Given the description of an element on the screen output the (x, y) to click on. 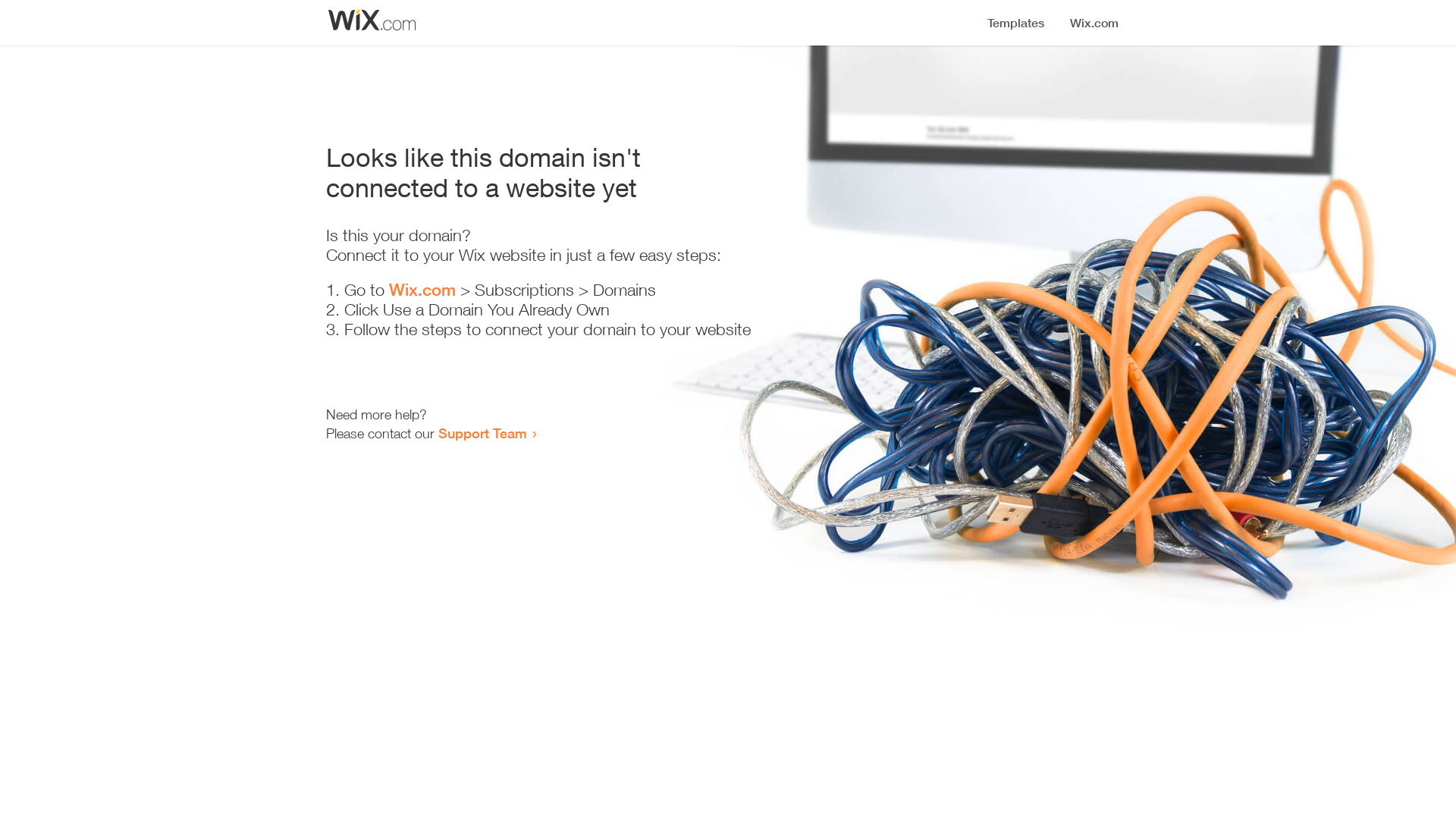
Support Team Element type: text (482, 432)
Wix.com Element type: text (422, 289)
